Given the description of an element on the screen output the (x, y) to click on. 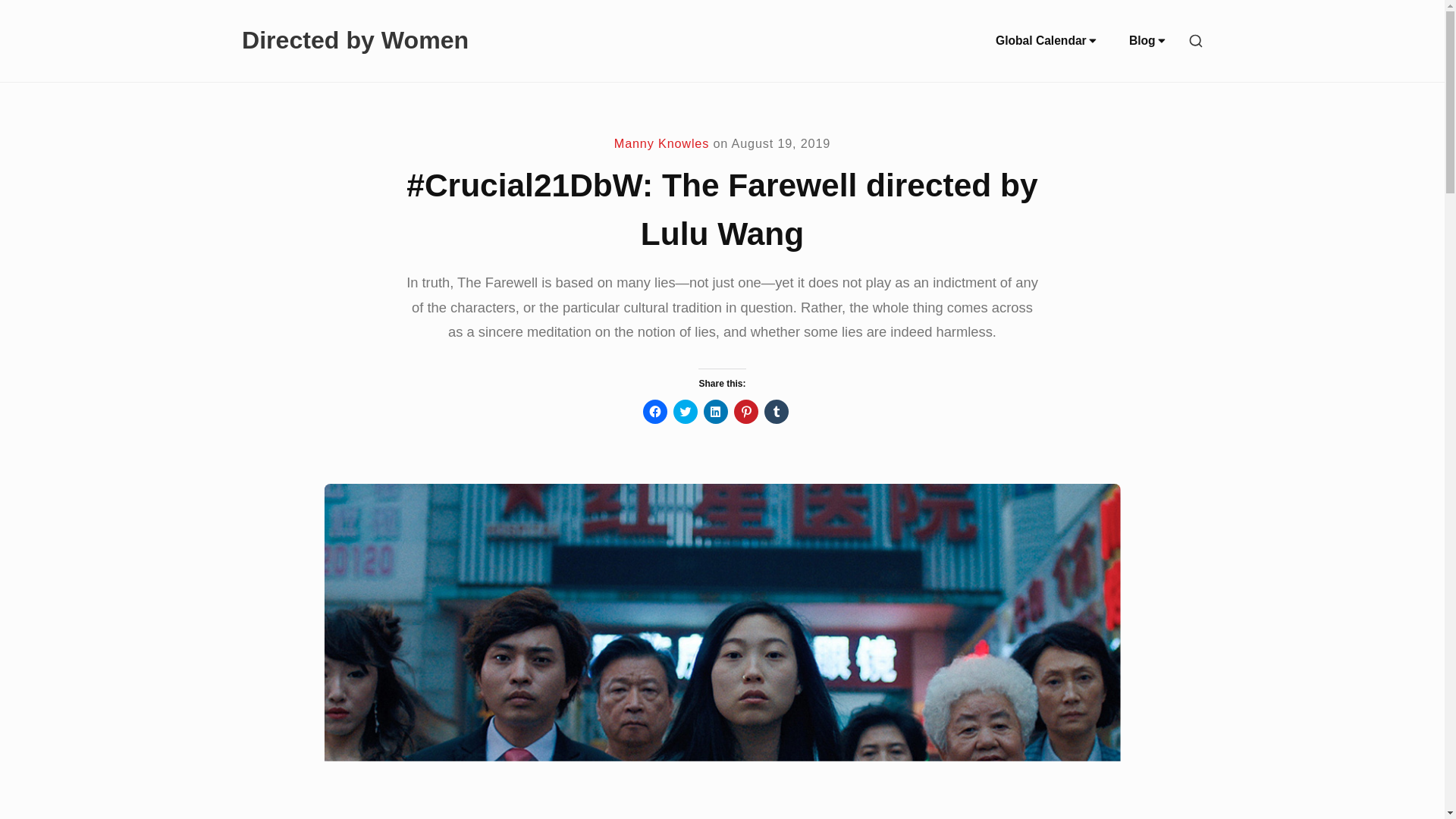
Click to share on Facebook (654, 411)
Click to share on Twitter (684, 411)
Manny Knowles (661, 142)
Click to share on Tumblr (776, 411)
Click to share on Pinterest (745, 411)
SHOW SECONDARY SIDEBAR (1195, 41)
Click to share on LinkedIn (715, 411)
